Given the description of an element on the screen output the (x, y) to click on. 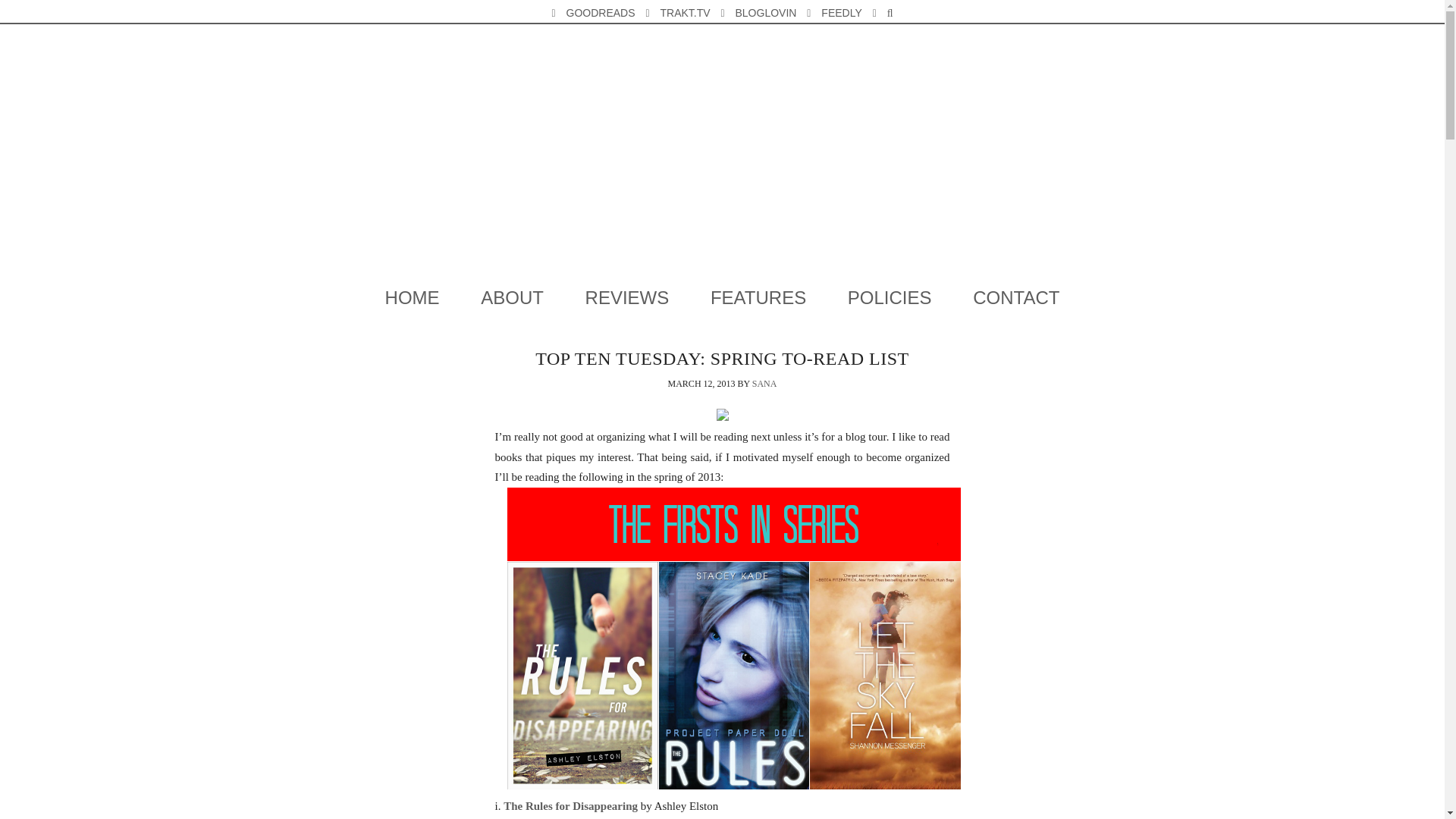
CONTACT (1016, 298)
TRAKT.TV (684, 13)
FEATURES (758, 298)
GOODREADS (600, 13)
REVIEWS (627, 298)
POLICIES (889, 298)
The Rules for Disappearing (570, 806)
FEEDLY (840, 13)
ABOUT (512, 298)
SANA (764, 383)
BLOGLOVIN (764, 13)
HOME (412, 298)
